Given the description of an element on the screen output the (x, y) to click on. 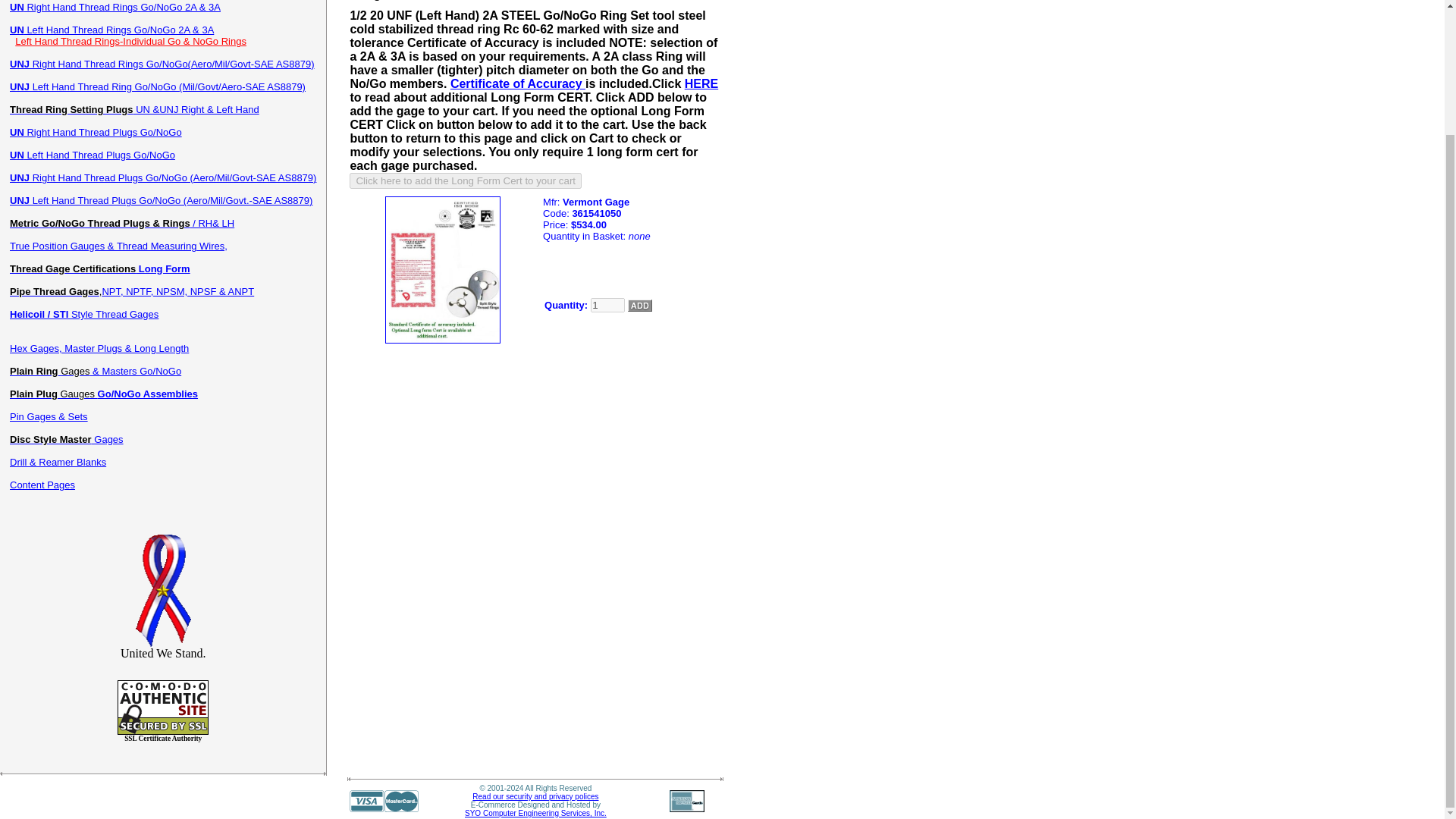
Thread Gage Certifications Long Form (100, 268)
1 (607, 305)
